Given the description of an element on the screen output the (x, y) to click on. 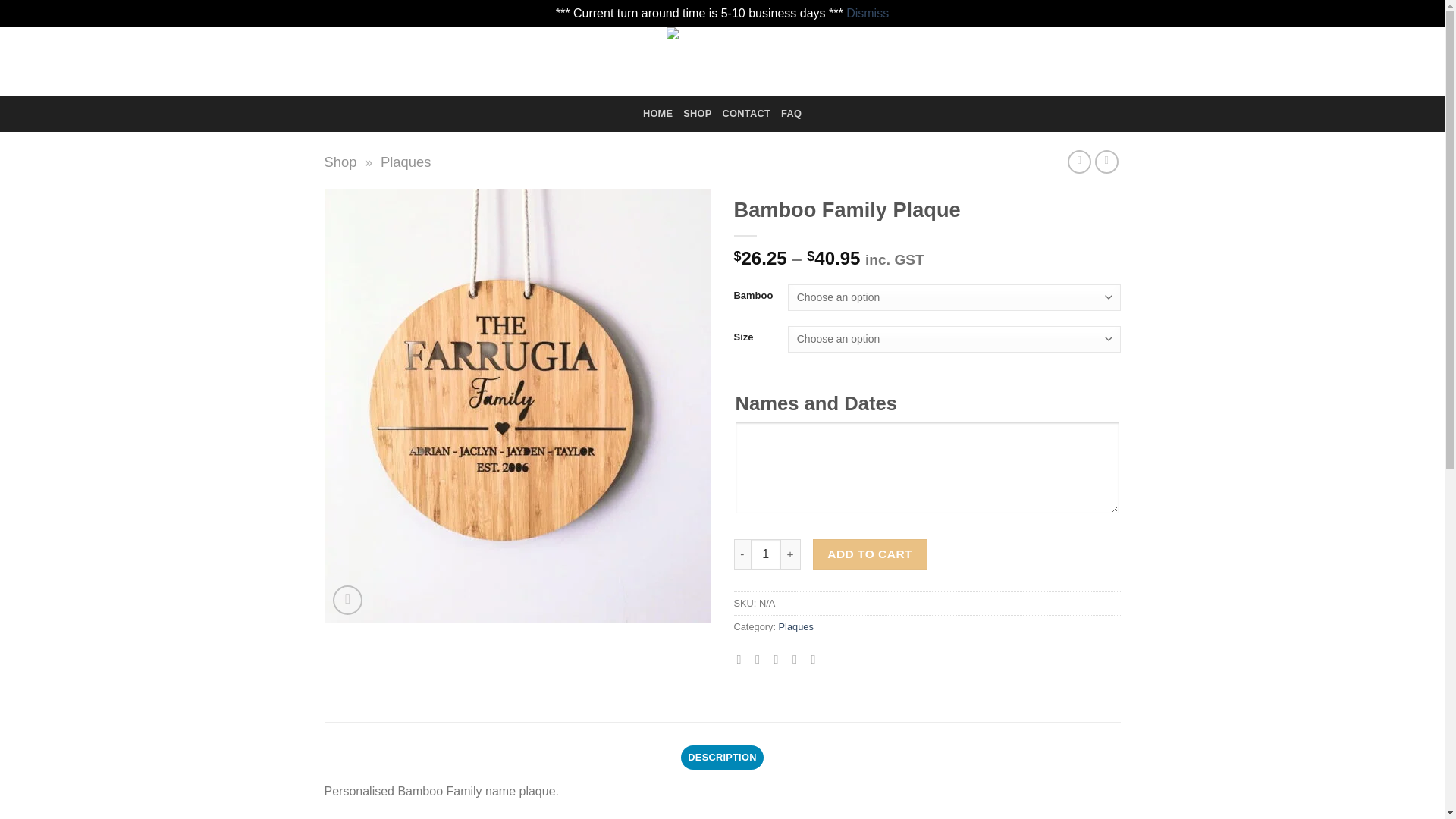
CONTACT (746, 113)
Beckingsale Designs (721, 61)
Search (454, 61)
ADD TO CART (869, 553)
Plaques (405, 161)
Plaques (795, 626)
1 (765, 553)
Share on Facebook (742, 658)
Dismiss (866, 12)
LOGIN (991, 60)
Shop (340, 161)
Zoom (347, 600)
Share on Tumblr (816, 658)
Login (991, 60)
Cart (1074, 61)
